Given the description of an element on the screen output the (x, y) to click on. 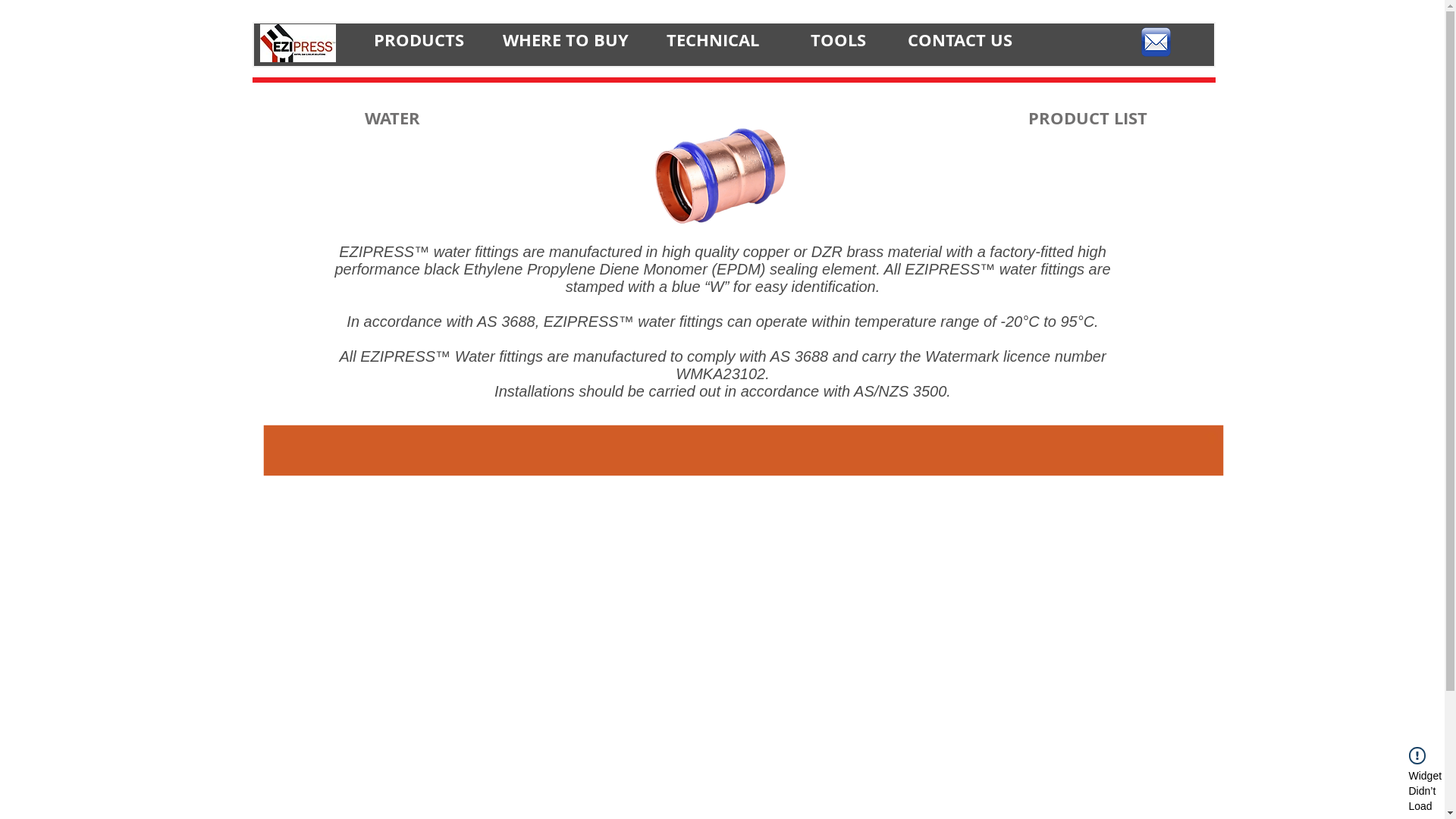
TOOLS Element type: text (837, 39)
CONTACT US Element type: text (958, 39)
TECHNICAL Element type: text (711, 39)
WHERE TO BUY Element type: text (564, 39)
PRODUCTS Element type: text (418, 39)
